Given the description of an element on the screen output the (x, y) to click on. 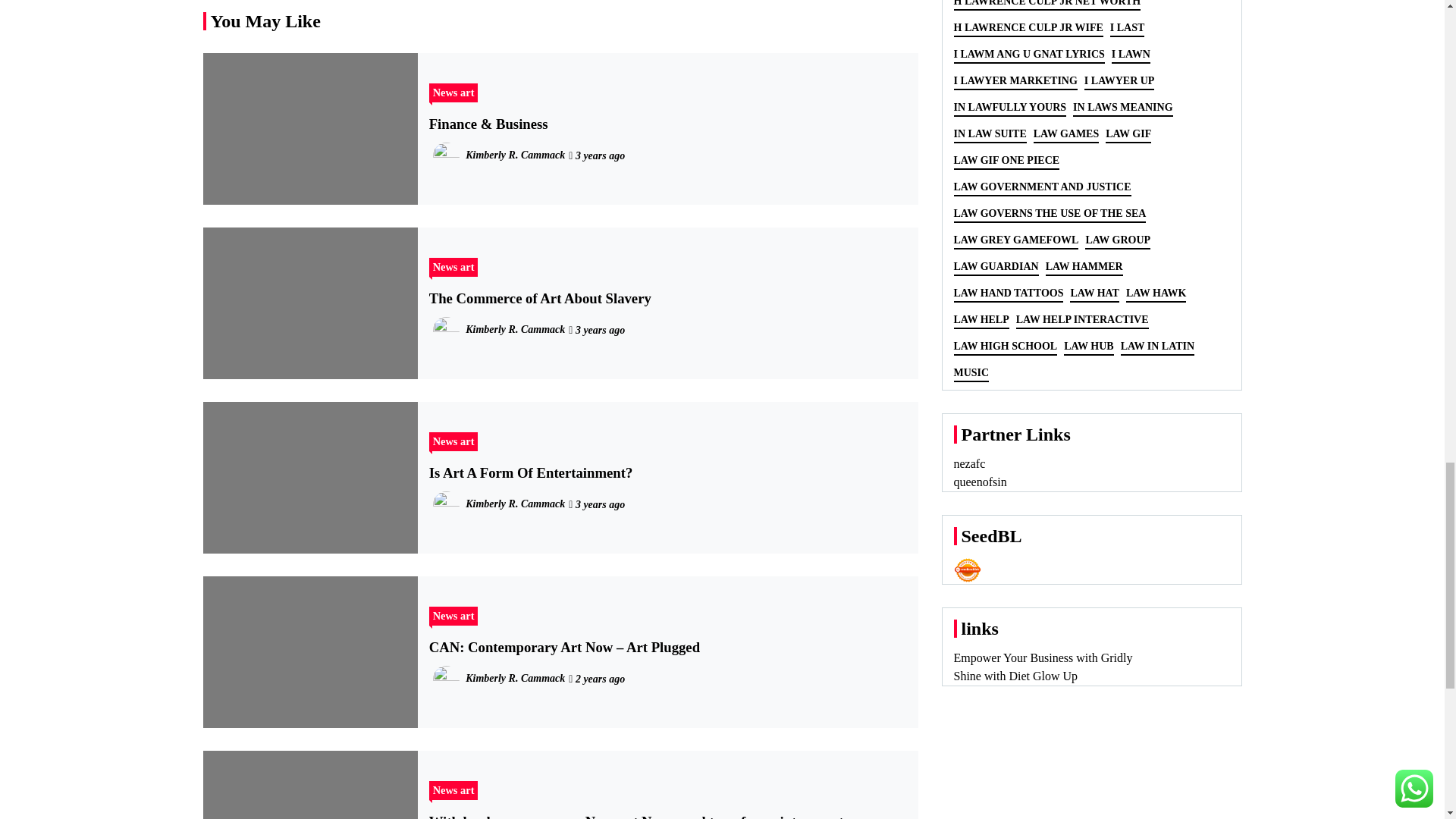
Seedbacklink (967, 569)
